Given the description of an element on the screen output the (x, y) to click on. 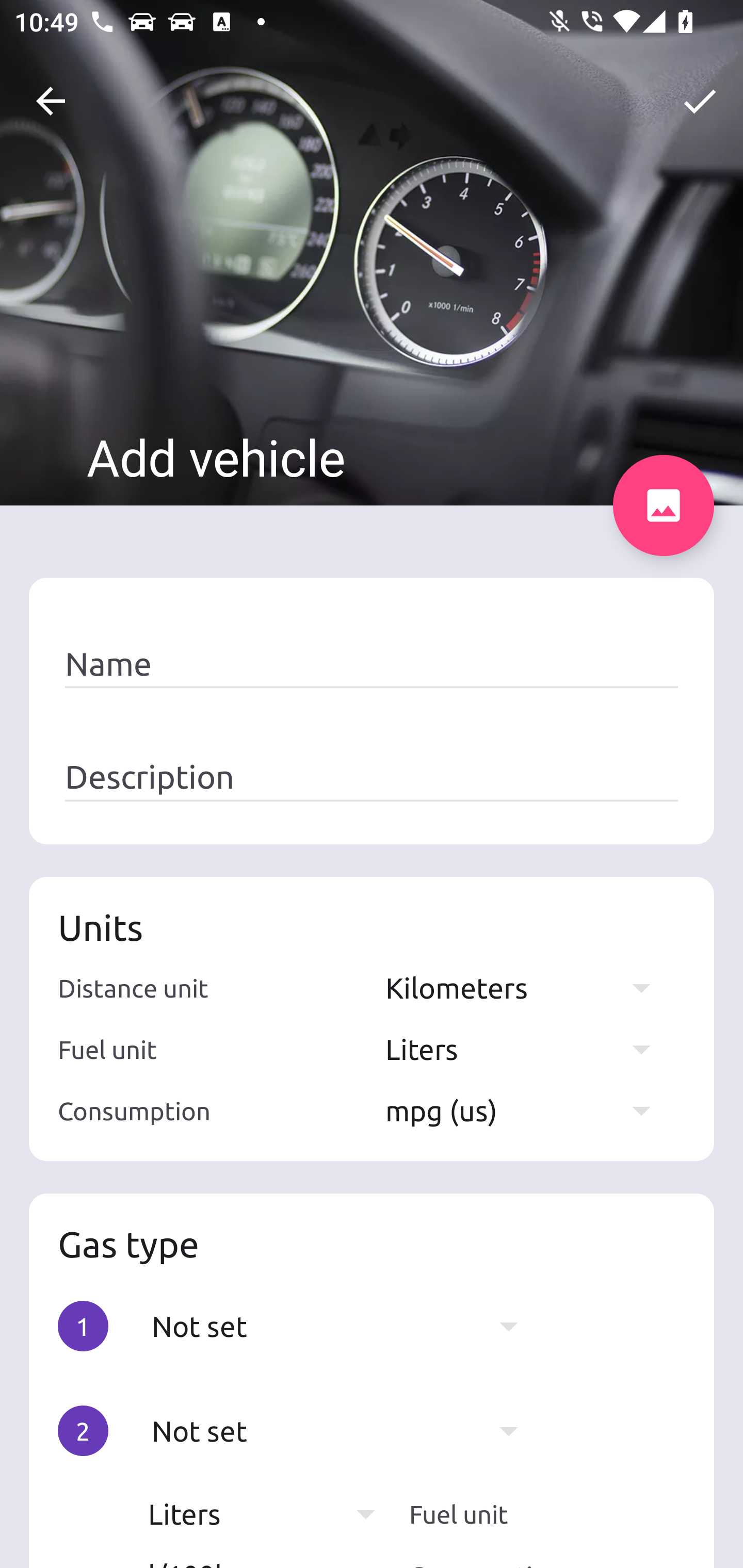
Navigate up (50, 101)
OK (699, 101)
Name (371, 664)
Description (371, 777)
Kilometers (527, 987)
Liters (527, 1048)
mpg (us) (527, 1110)
Not set (344, 1325)
Not set (344, 1430)
Liters (271, 1513)
